Given the description of an element on the screen output the (x, y) to click on. 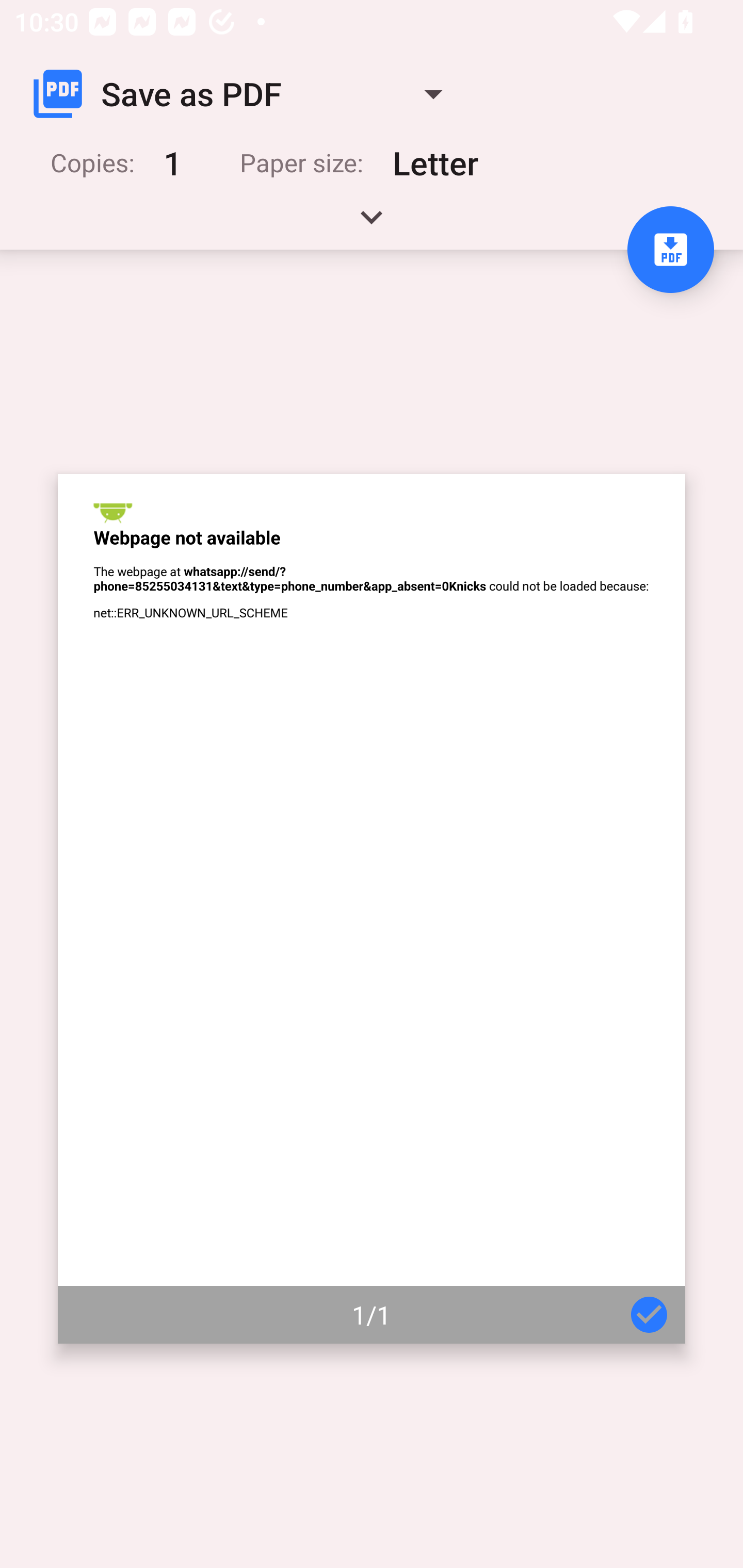
Save as PDF (245, 93)
Expand handle (371, 224)
Save to PDF (670, 249)
Page 1 of 1 1/1 (371, 908)
